Given the description of an element on the screen output the (x, y) to click on. 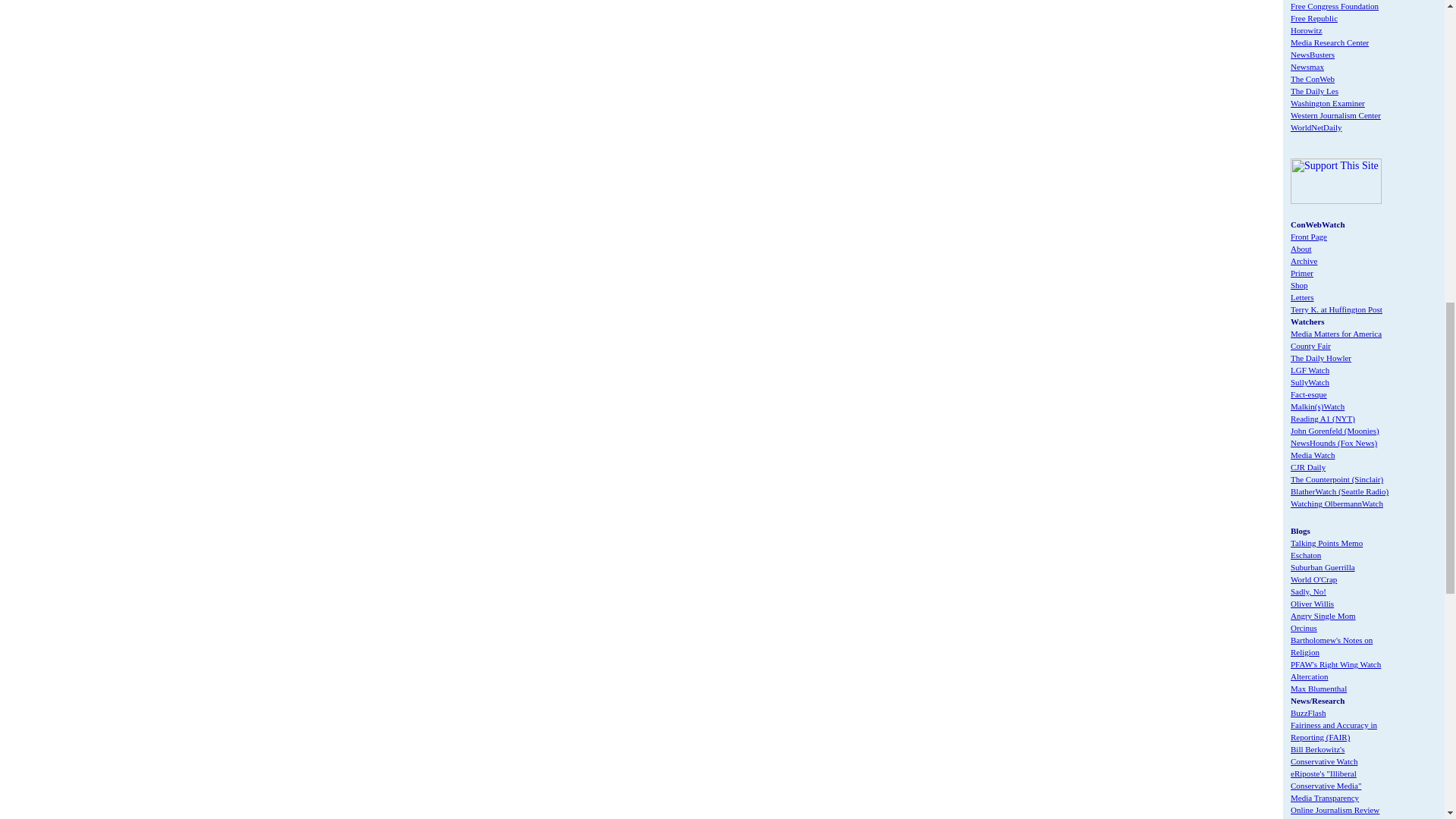
Newsmax (1306, 66)
Free Congress Foundation (1334, 5)
Media Research Center (1329, 41)
Washington Examiner (1327, 102)
Front Page (1308, 235)
Free Republic (1314, 17)
NewsBusters (1312, 53)
The ConWeb (1312, 78)
Western Journalism Center (1335, 114)
The Daily Les (1314, 90)
